Given the description of an element on the screen output the (x, y) to click on. 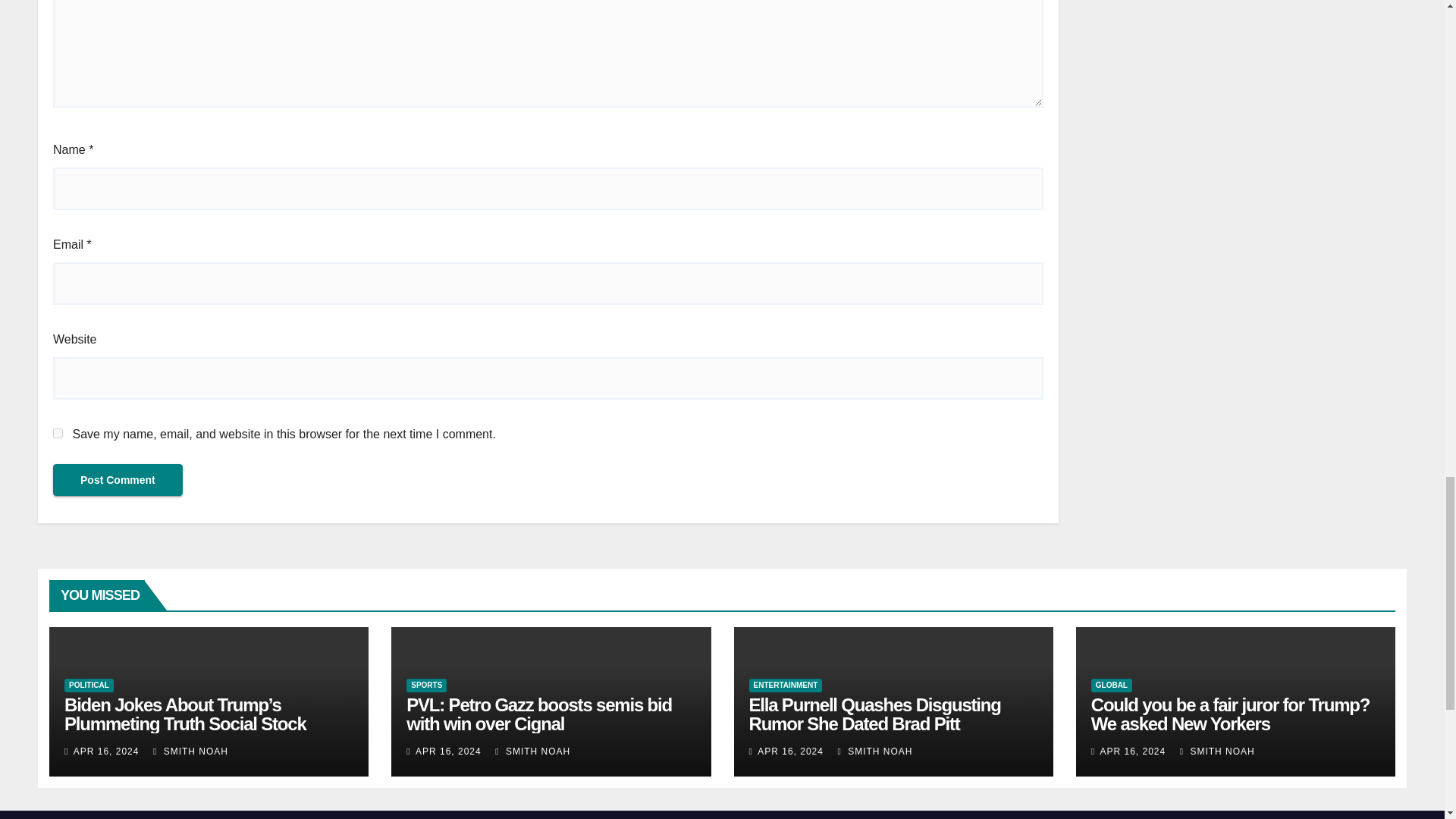
yes (57, 433)
Post Comment (117, 480)
